Given the description of an element on the screen output the (x, y) to click on. 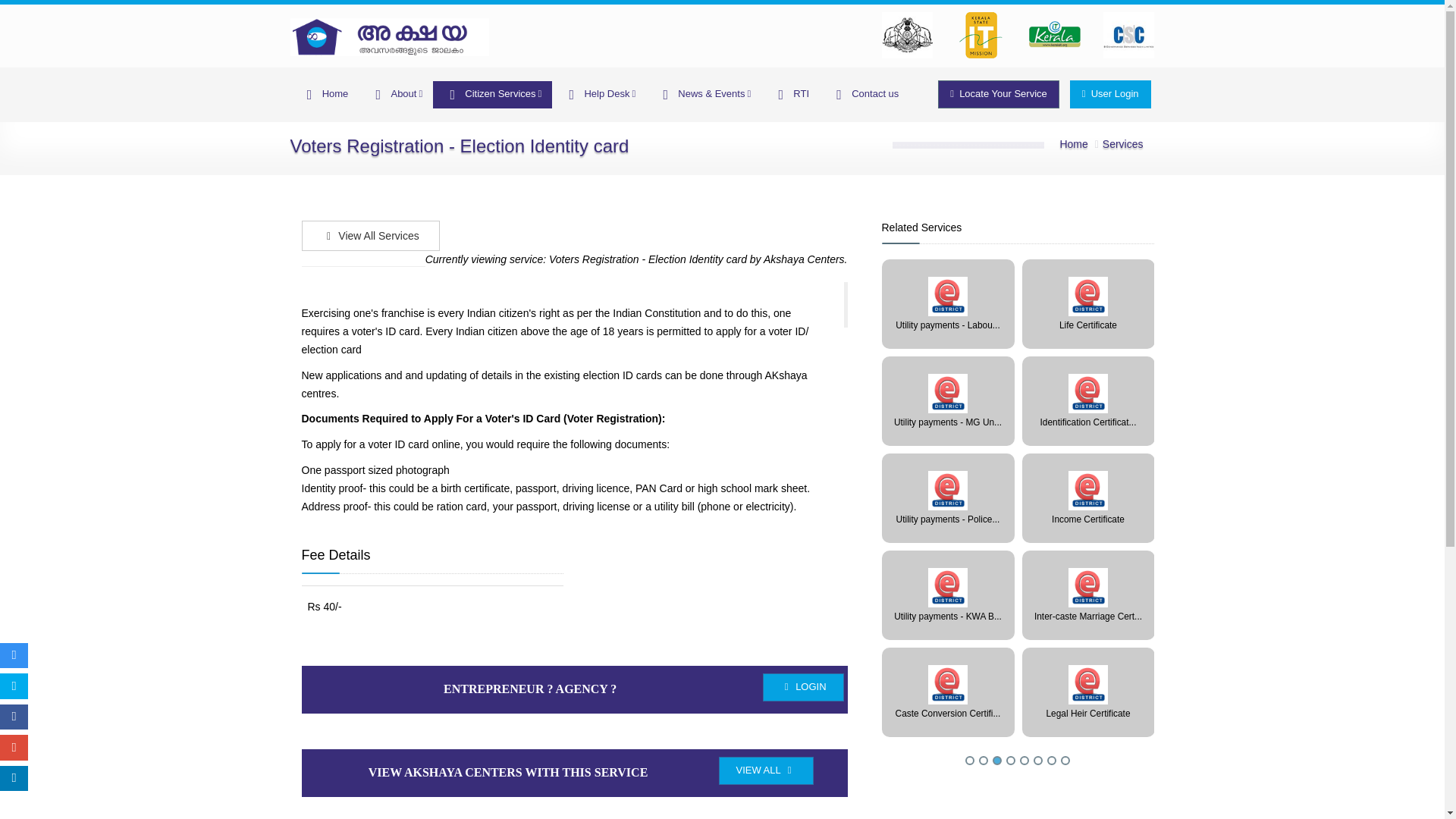
  Locate Your Service (998, 94)
Help Desk (598, 94)
RTI (790, 94)
About (395, 94)
  User Login (1110, 94)
Citizen Services (491, 94)
Contact us (863, 94)
Home (323, 94)
